Given the description of an element on the screen output the (x, y) to click on. 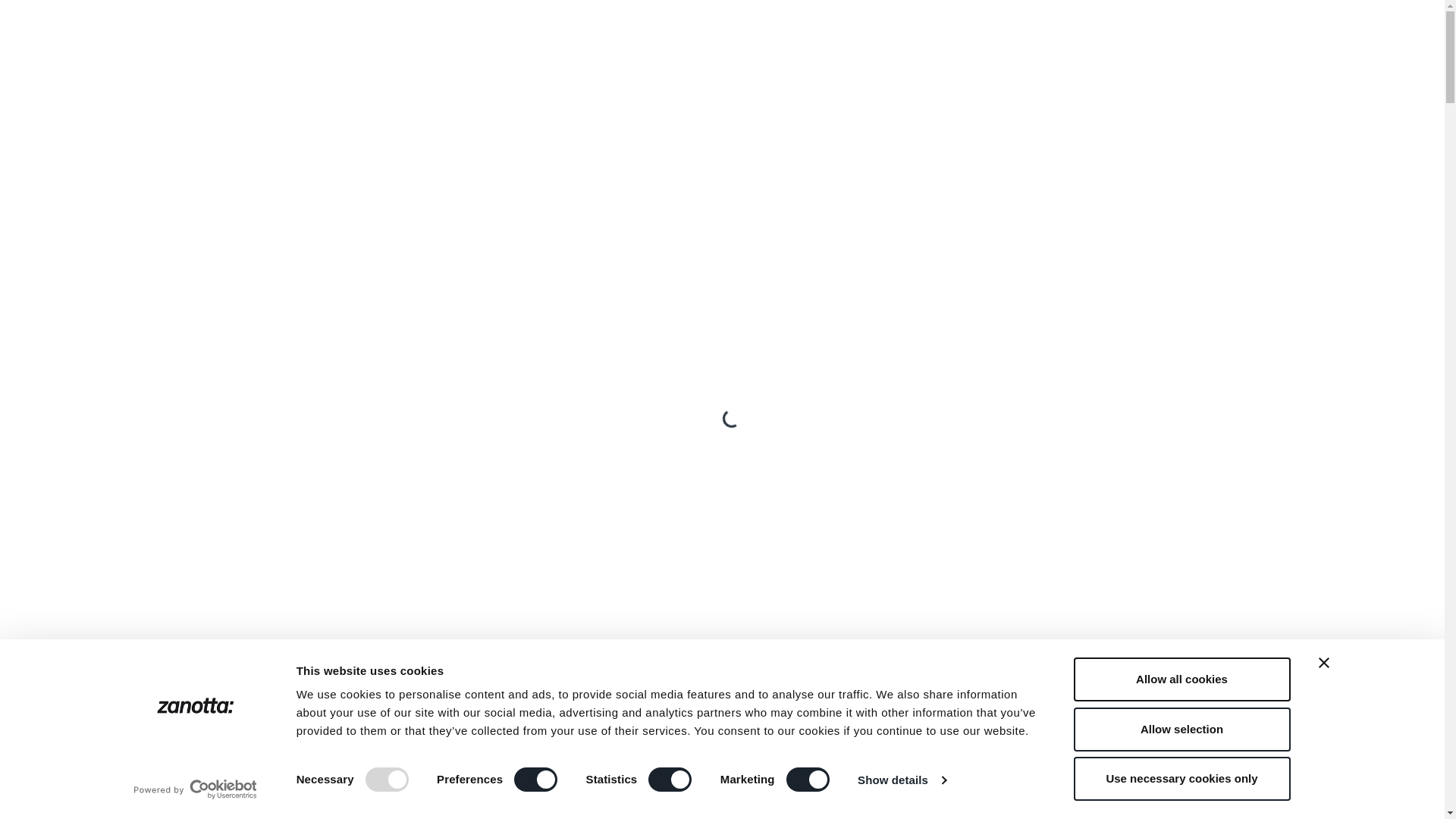
Allow all cookies (1182, 679)
Use necessary cookies only (1182, 778)
Show details (900, 780)
Allow selection (1182, 728)
